Given the description of an element on the screen output the (x, y) to click on. 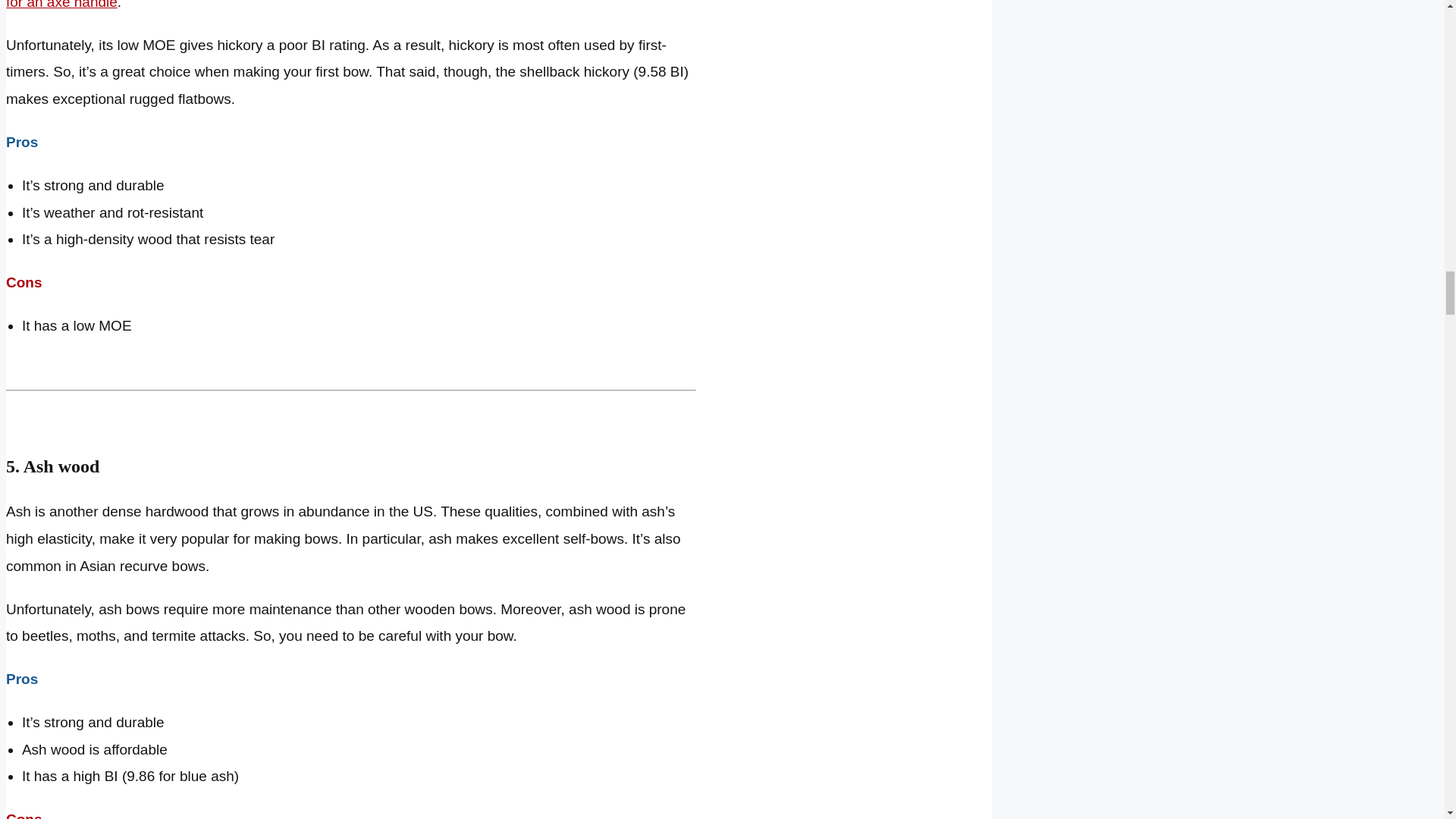
best wood for an axe handle (347, 4)
